Given the description of an element on the screen output the (x, y) to click on. 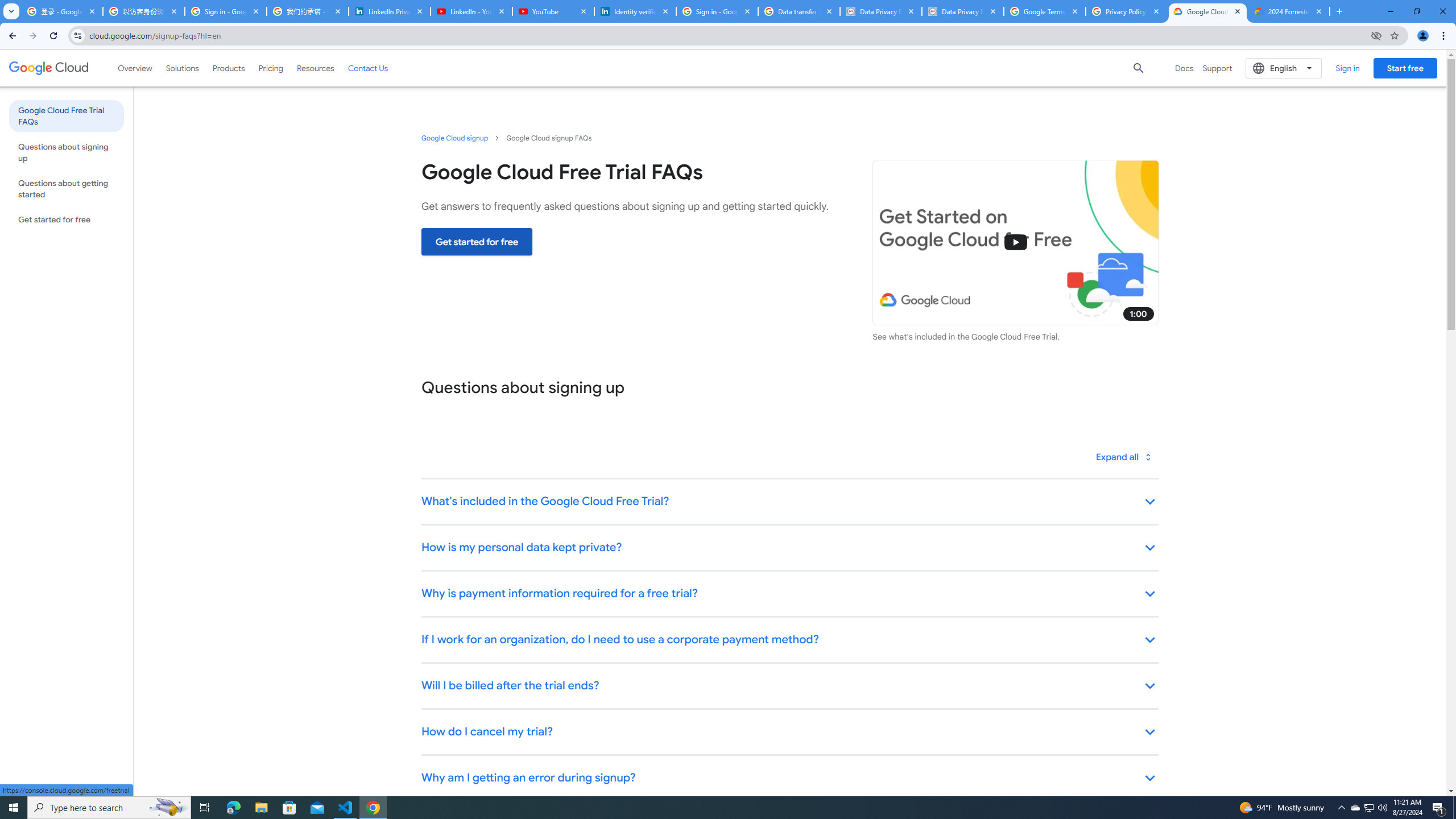
Start free (1405, 67)
